Given the description of an element on the screen output the (x, y) to click on. 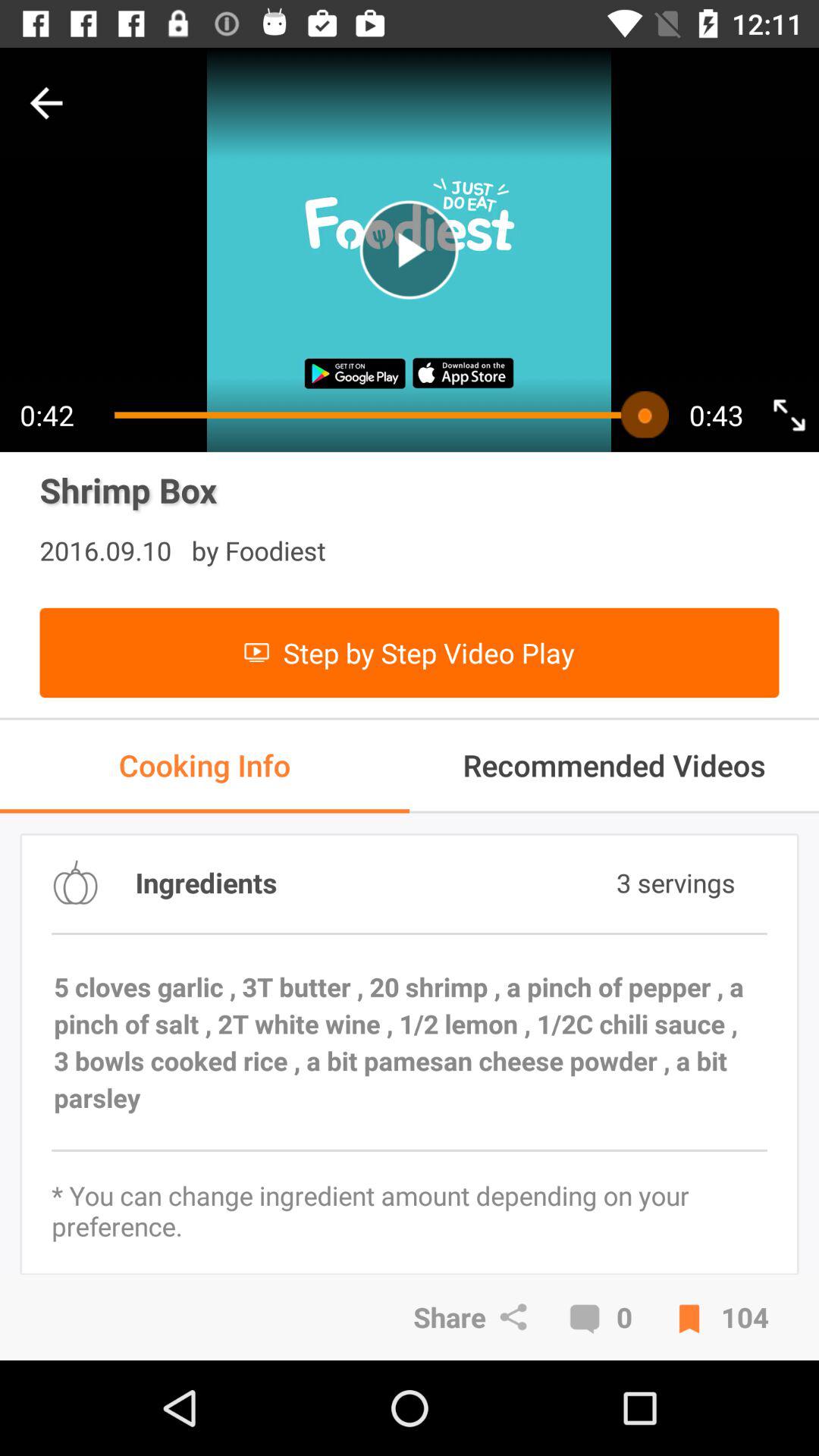
exton page (789, 414)
